Given the description of an element on the screen output the (x, y) to click on. 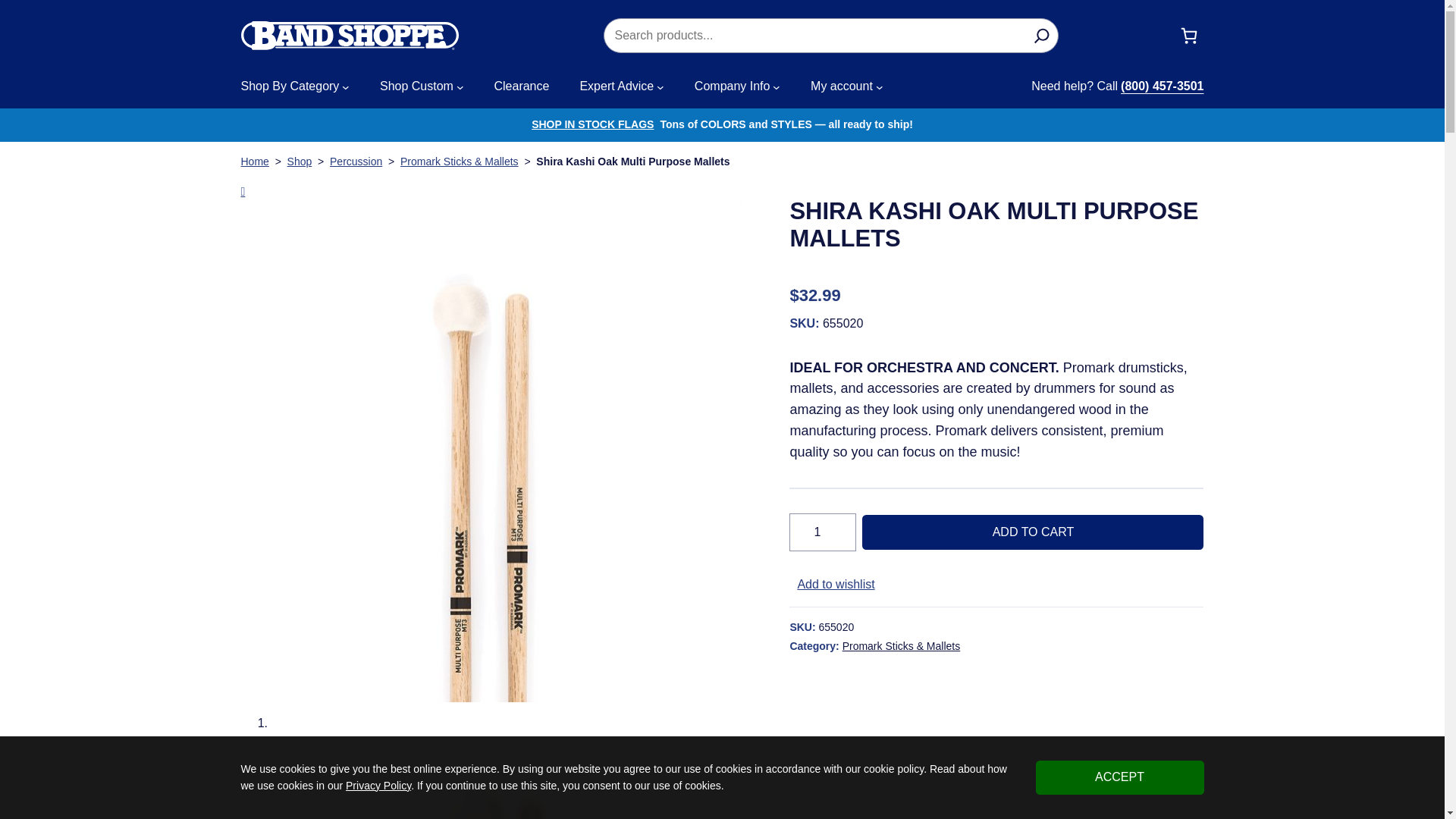
Customer reviews powered by Trustpilot (996, 267)
Shop By Category (290, 86)
1 (822, 532)
